Given the description of an element on the screen output the (x, y) to click on. 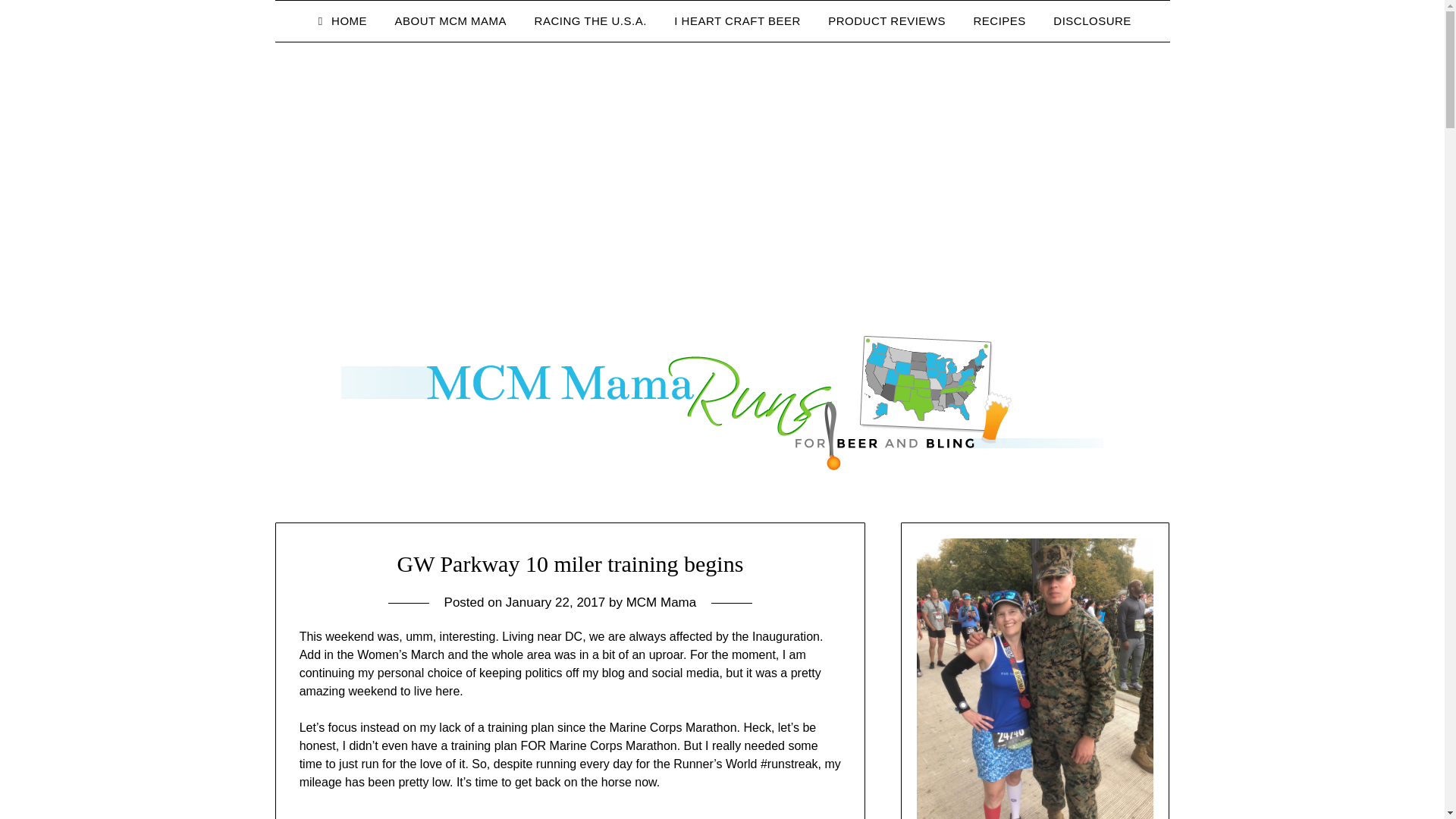
I HEART CRAFT BEER (737, 20)
PRODUCT REVIEWS (886, 20)
HOME (339, 20)
RACING THE U.S.A. (590, 20)
January 22, 2017 (555, 602)
DISCLOSURE (1091, 20)
RECIPES (998, 20)
MCM Mama (661, 602)
ABOUT MCM MAMA (450, 20)
